Given the description of an element on the screen output the (x, y) to click on. 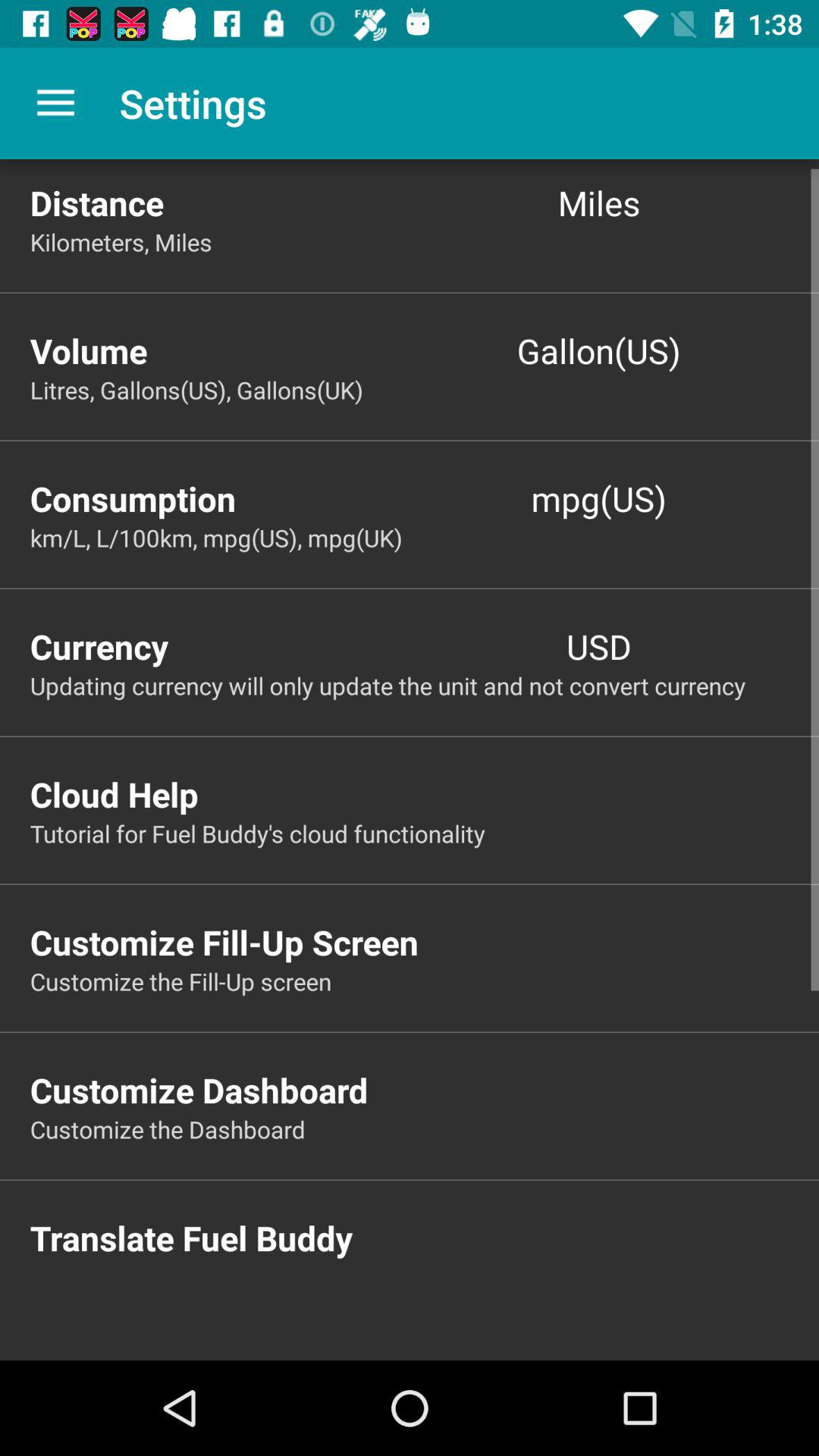
swipe to the cloud help item (424, 794)
